Given the description of an element on the screen output the (x, y) to click on. 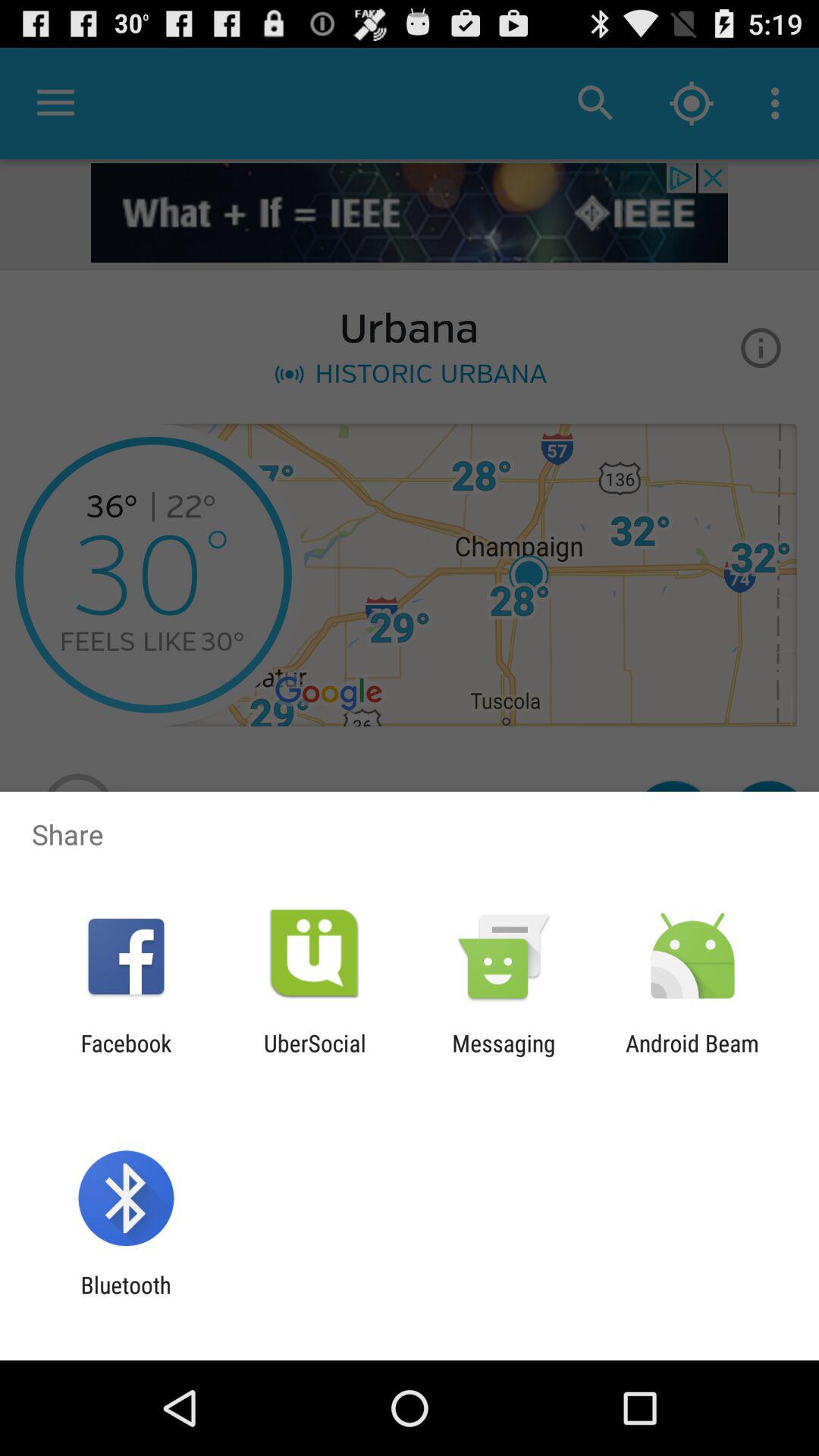
turn off item next to the messaging item (692, 1056)
